Given the description of an element on the screen output the (x, y) to click on. 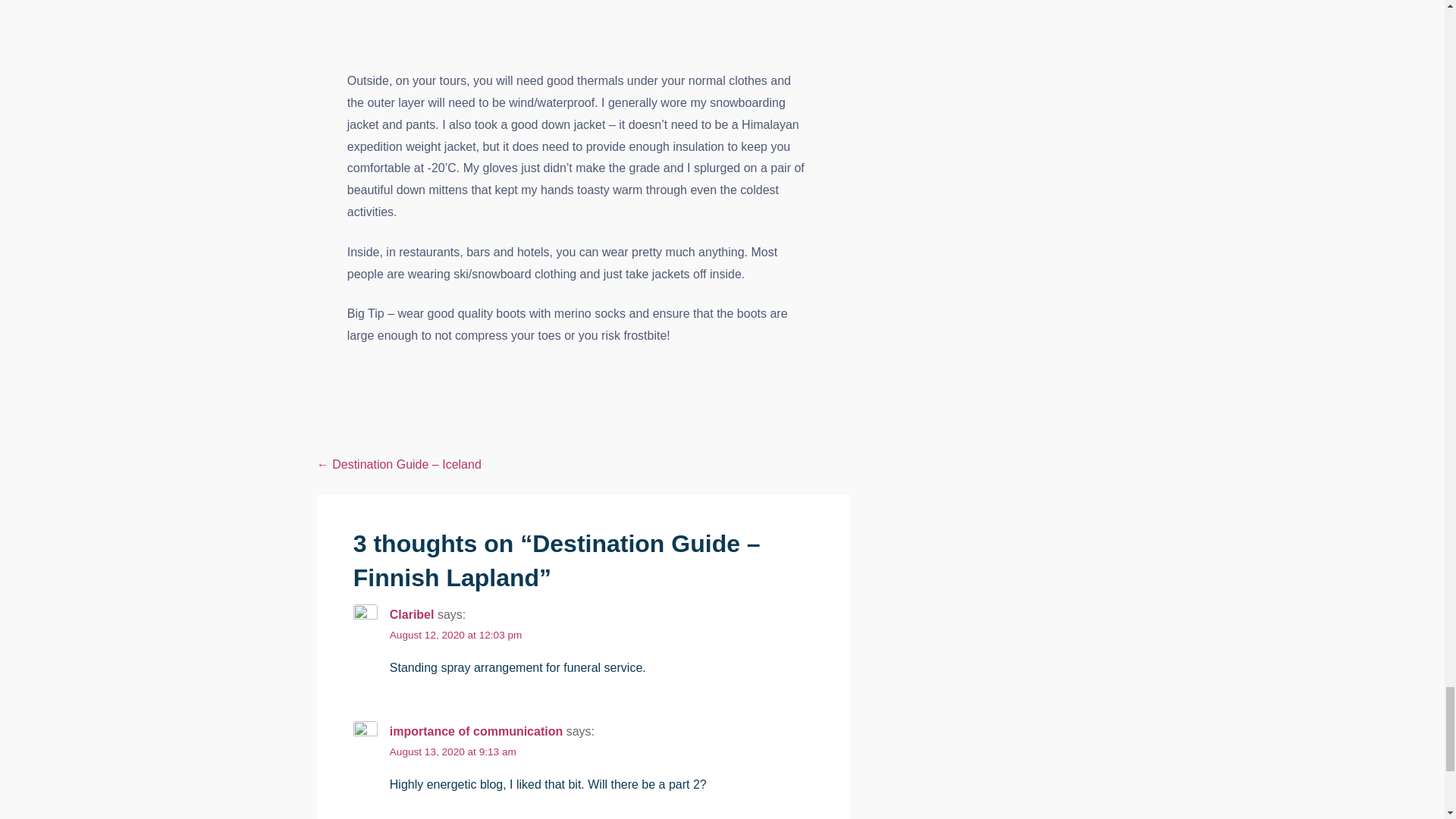
Claribel (411, 614)
August 12, 2020 at 12:03 pm (456, 634)
August 13, 2020 at 9:13 am (453, 751)
importance of communication (476, 730)
